Given the description of an element on the screen output the (x, y) to click on. 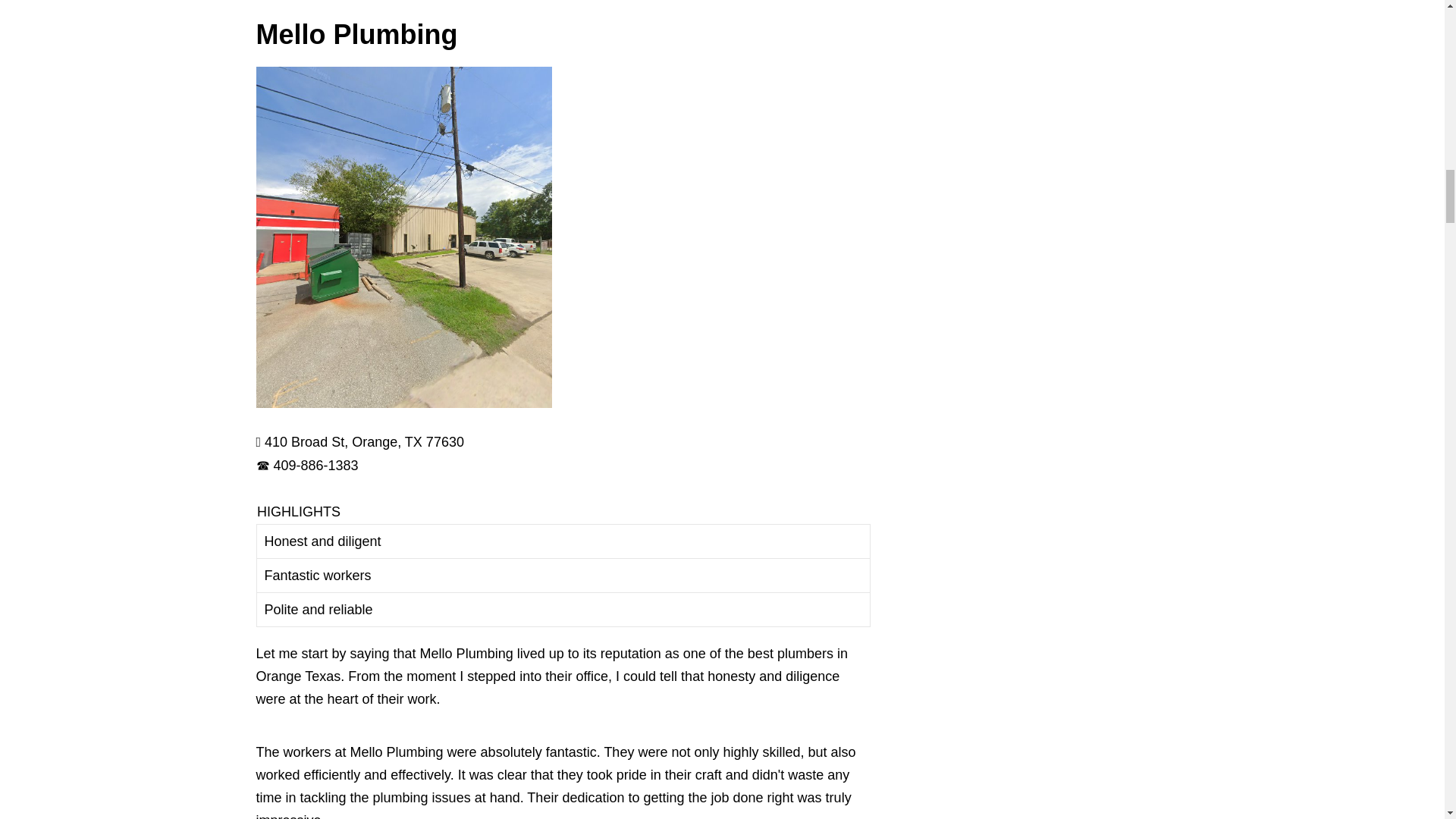
409-886-1383 (315, 465)
410 Broad St, Orange, TX 77630 (364, 441)
